Given the description of an element on the screen output the (x, y) to click on. 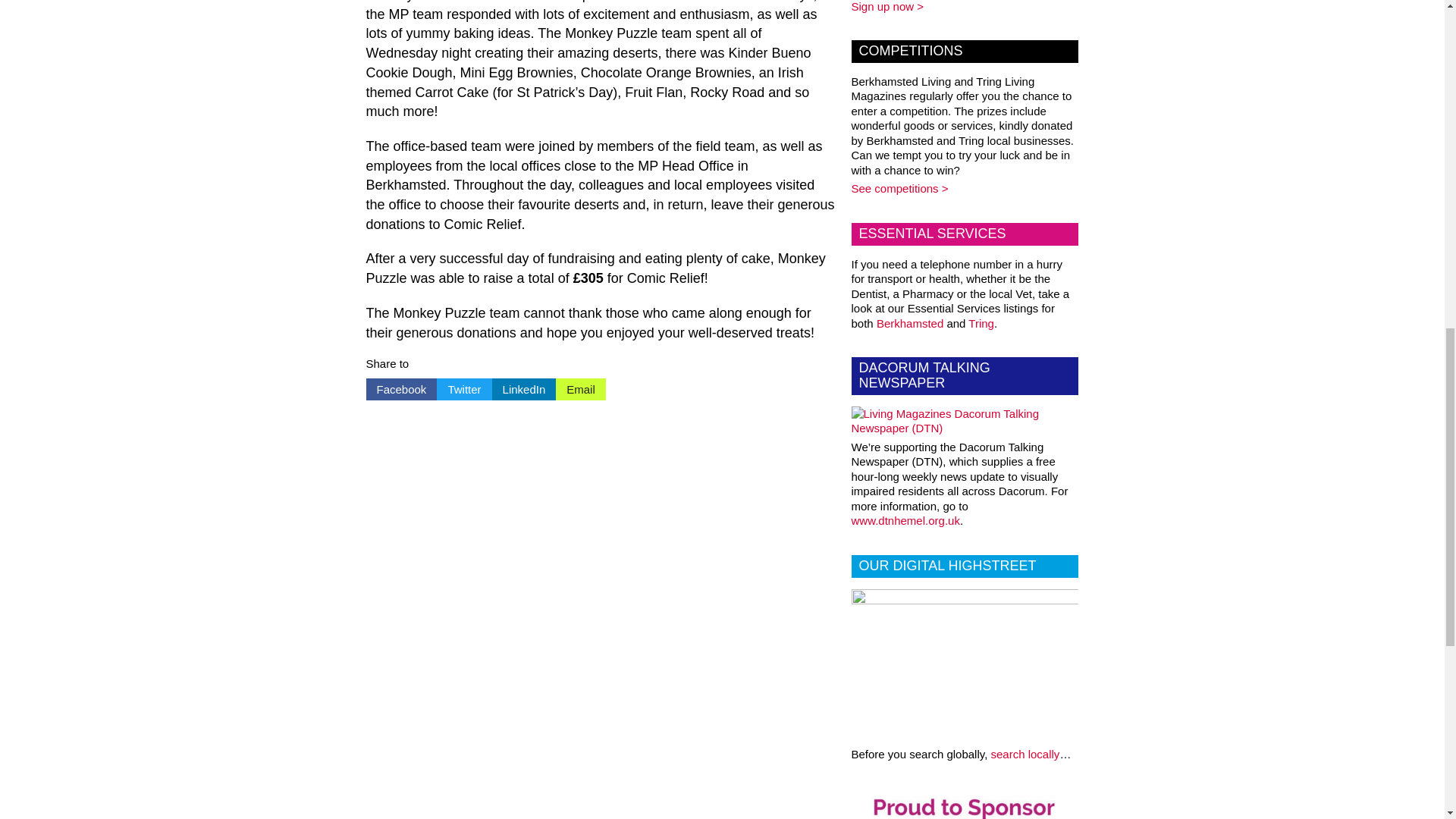
Twitter (464, 389)
LinkedIn (524, 389)
Facebook (400, 389)
Email (580, 389)
